Given the description of an element on the screen output the (x, y) to click on. 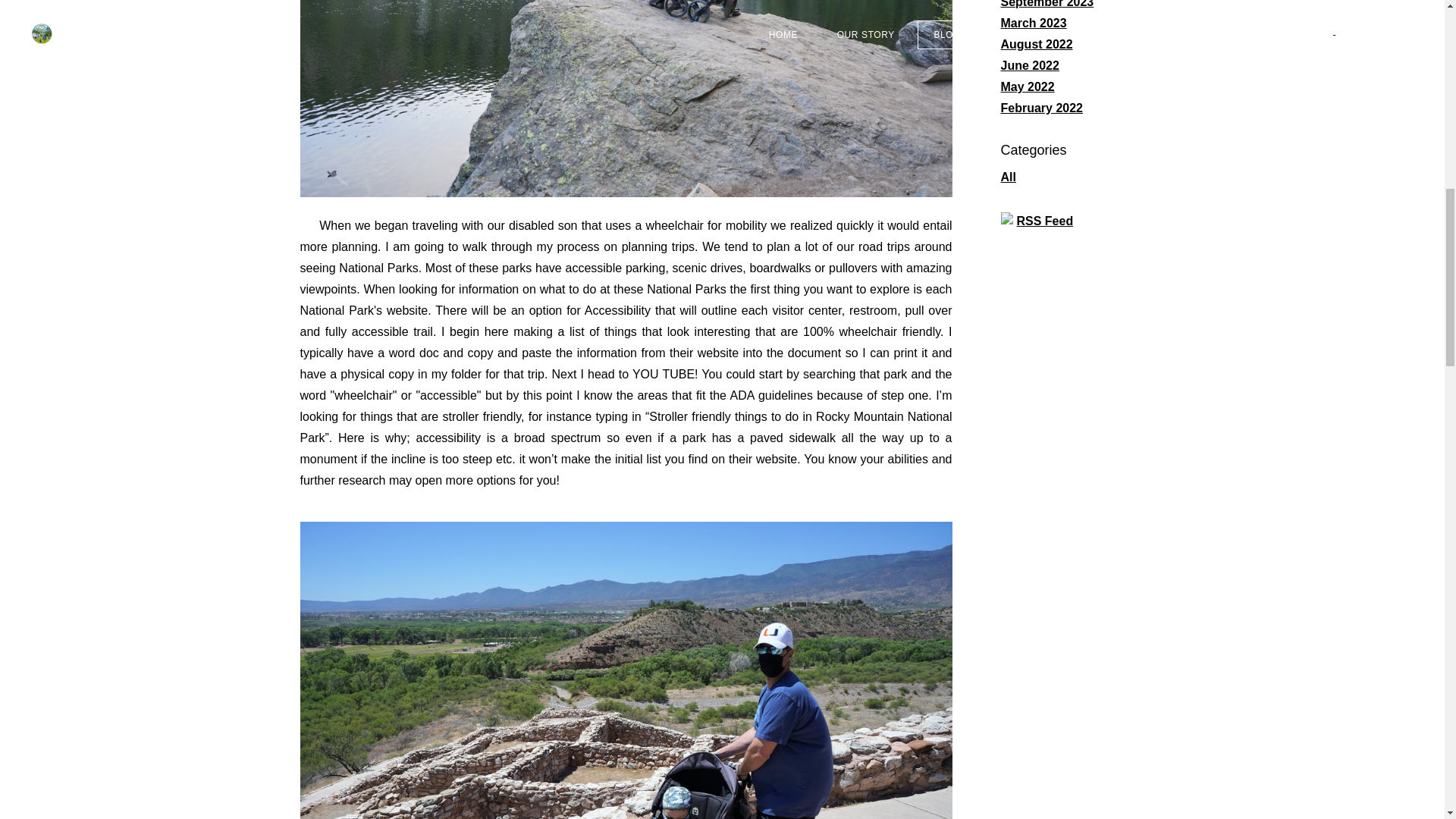
RSS Feed (1044, 219)
February 2022 (1042, 107)
September 2023 (1047, 4)
May 2022 (1027, 86)
August 2022 (1037, 43)
June 2022 (1030, 65)
March 2023 (1034, 22)
All (1008, 175)
